Given the description of an element on the screen output the (x, y) to click on. 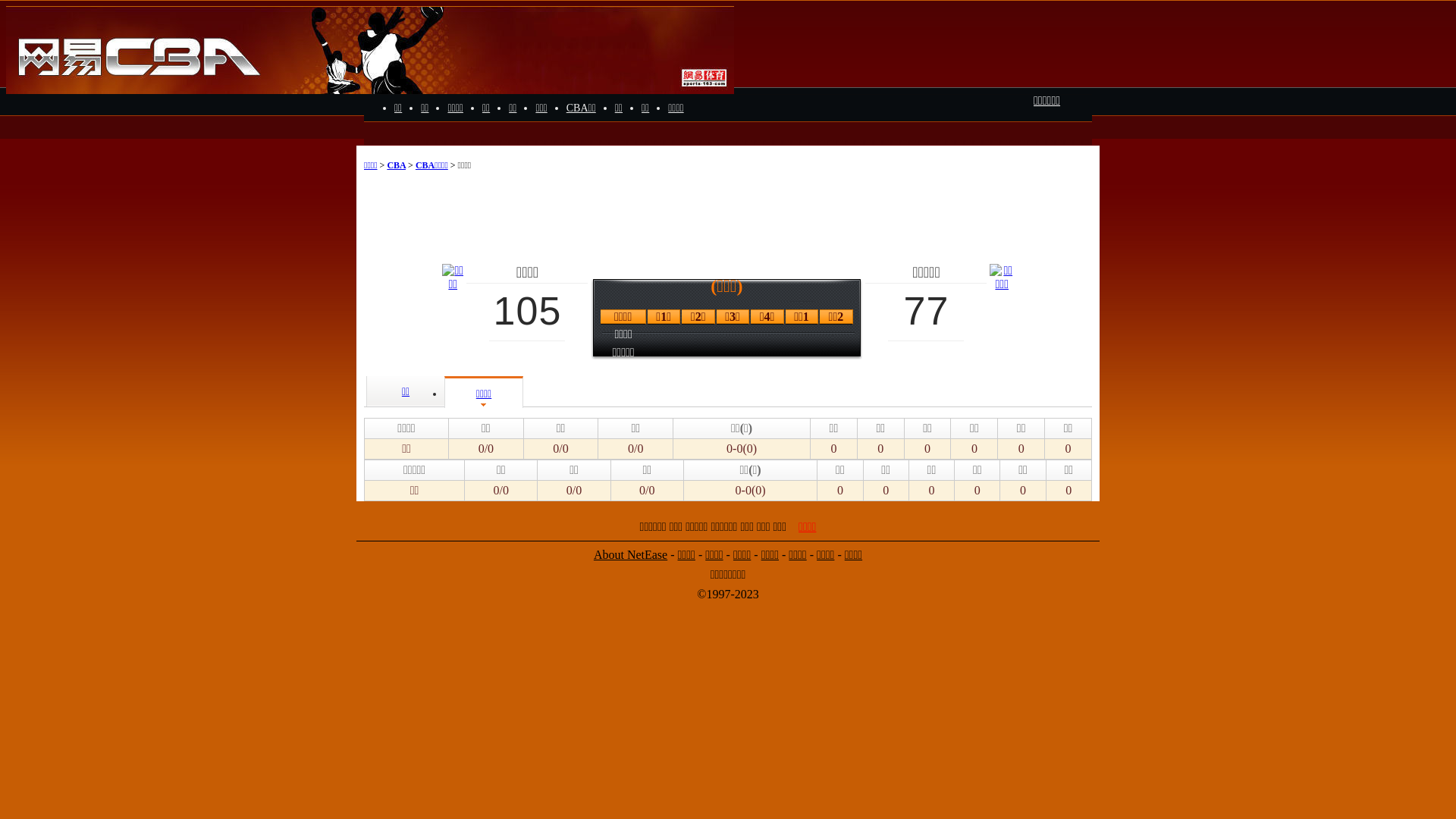
About NetEase Element type: text (630, 554)
CBA Element type: text (395, 165)
